Given the description of an element on the screen output the (x, y) to click on. 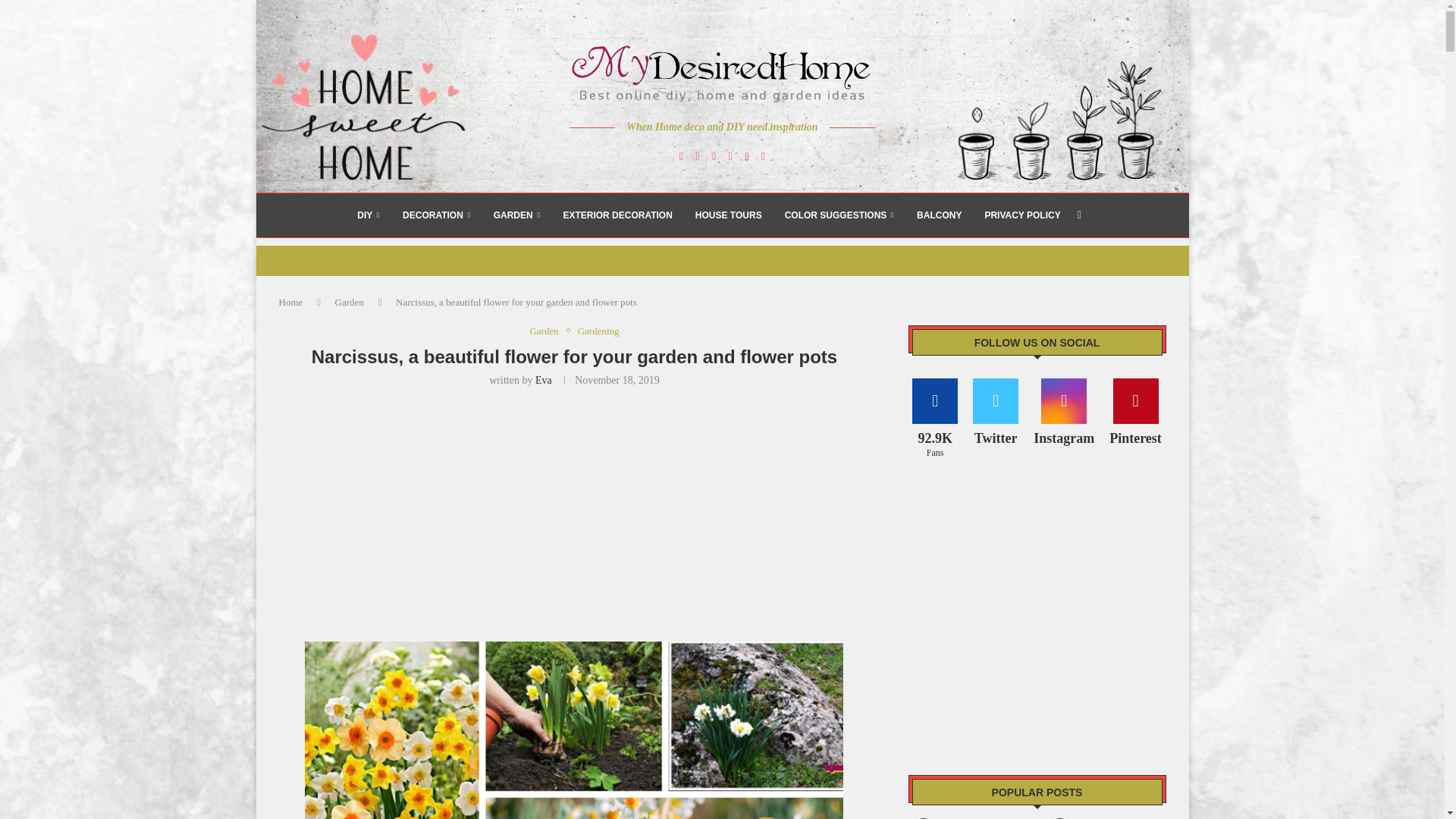
Home (290, 301)
Garden (547, 331)
DECORATION (436, 215)
EXTERIOR DECORATION (616, 215)
Eva (543, 379)
BALCONY (938, 215)
GARDEN (516, 215)
Garden (349, 301)
COLOR SUGGESTIONS (838, 215)
Gardening (599, 331)
PRIVACY POLICY (1021, 215)
HOUSE TOURS (728, 215)
